Given the description of an element on the screen output the (x, y) to click on. 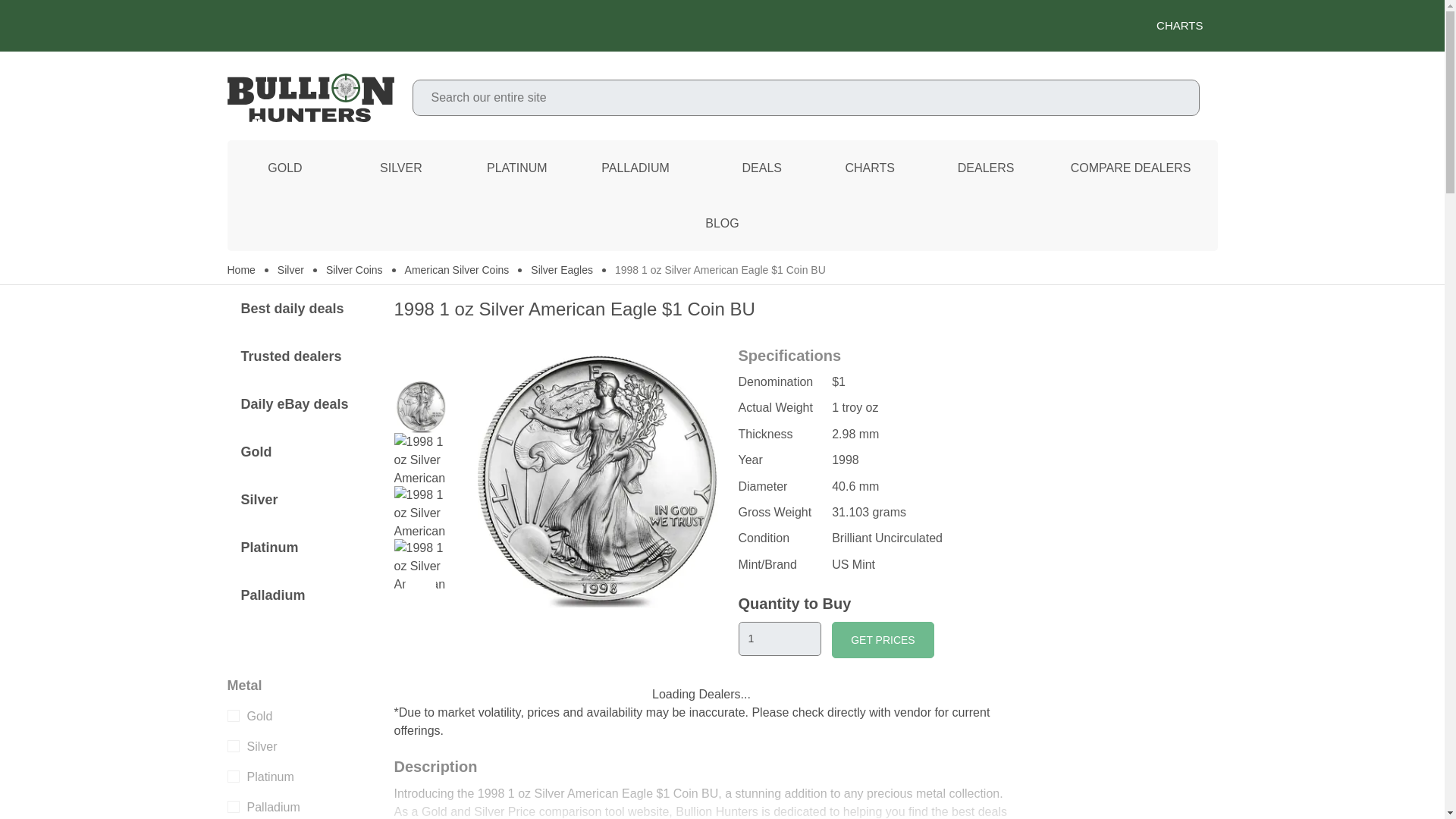
GOLD (285, 167)
Loading Dealers... (701, 694)
CHARTS (722, 25)
palladium (233, 806)
CHARTS (1186, 25)
gold (233, 715)
Gold (285, 167)
platinum (233, 776)
1 (780, 638)
silver (233, 746)
